Given the description of an element on the screen output the (x, y) to click on. 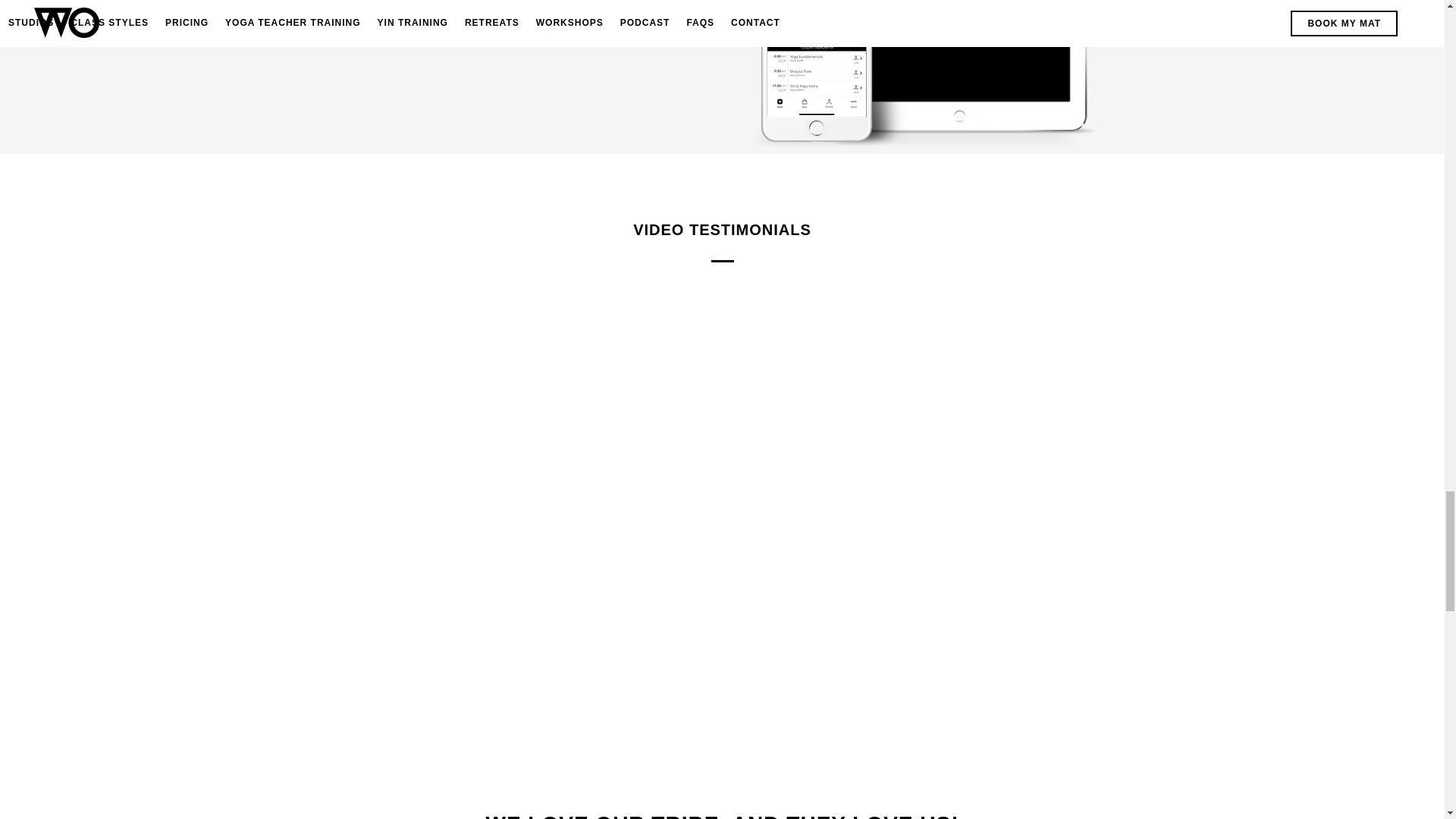
Warrior One Yogis, meet Rob (1057, 574)
Warrior One Yogis - meet Hillier (722, 374)
Warrior One Yogis - meet Hayley (1057, 374)
Warrior One Yogis - Meet Jan and Andrew (384, 374)
Warrior One Yogis - meet Chelsea (722, 574)
Warrior One Yogis - meet Cam (384, 574)
